Given the description of an element on the screen output the (x, y) to click on. 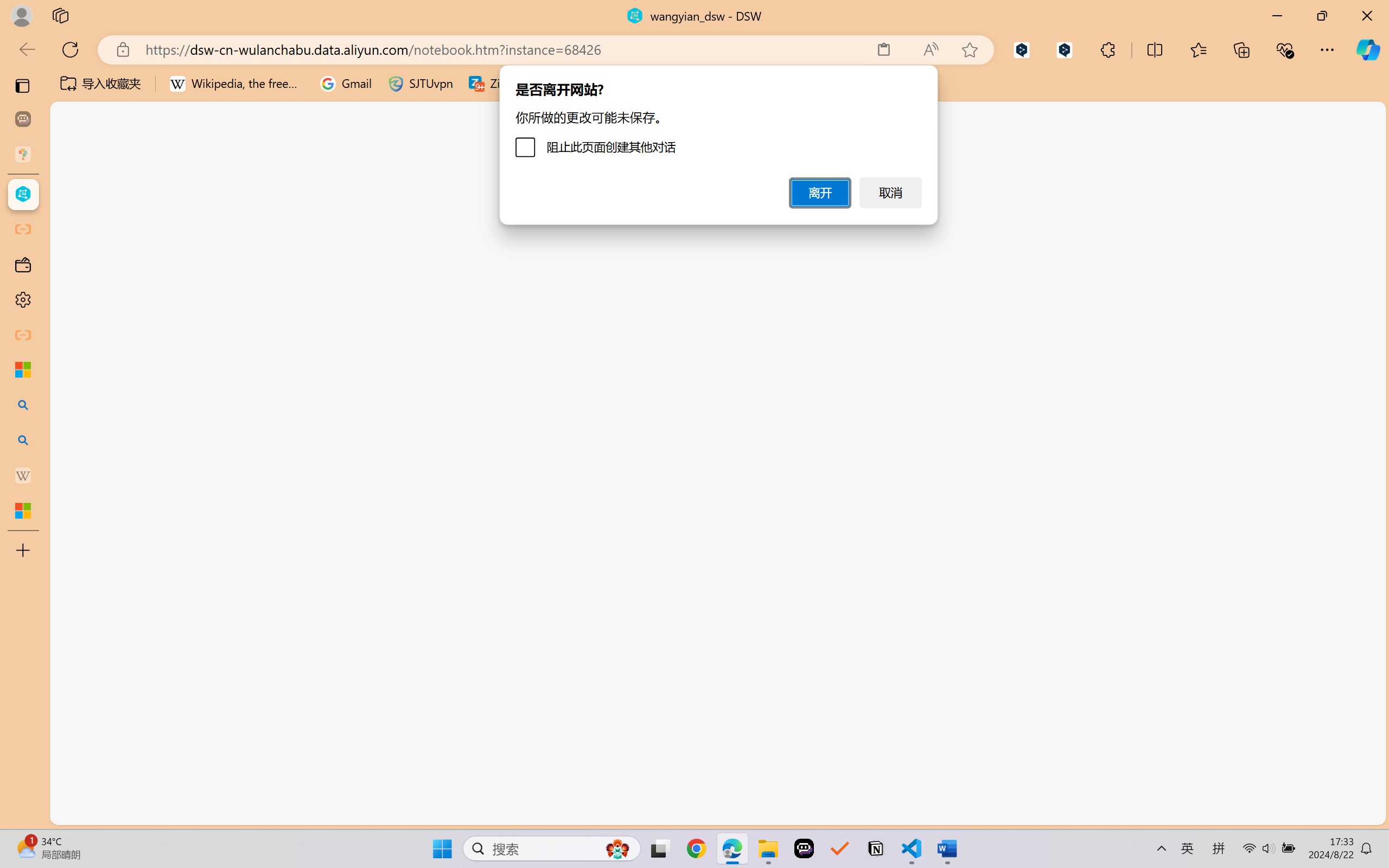
Problems (Ctrl+Shift+M) (308, 194)
Class: actions-container (406, 265)
Run and Debug (Ctrl+Shift+D) (73, 375)
Set Port Label (F2) (396, 265)
